Given the description of an element on the screen output the (x, y) to click on. 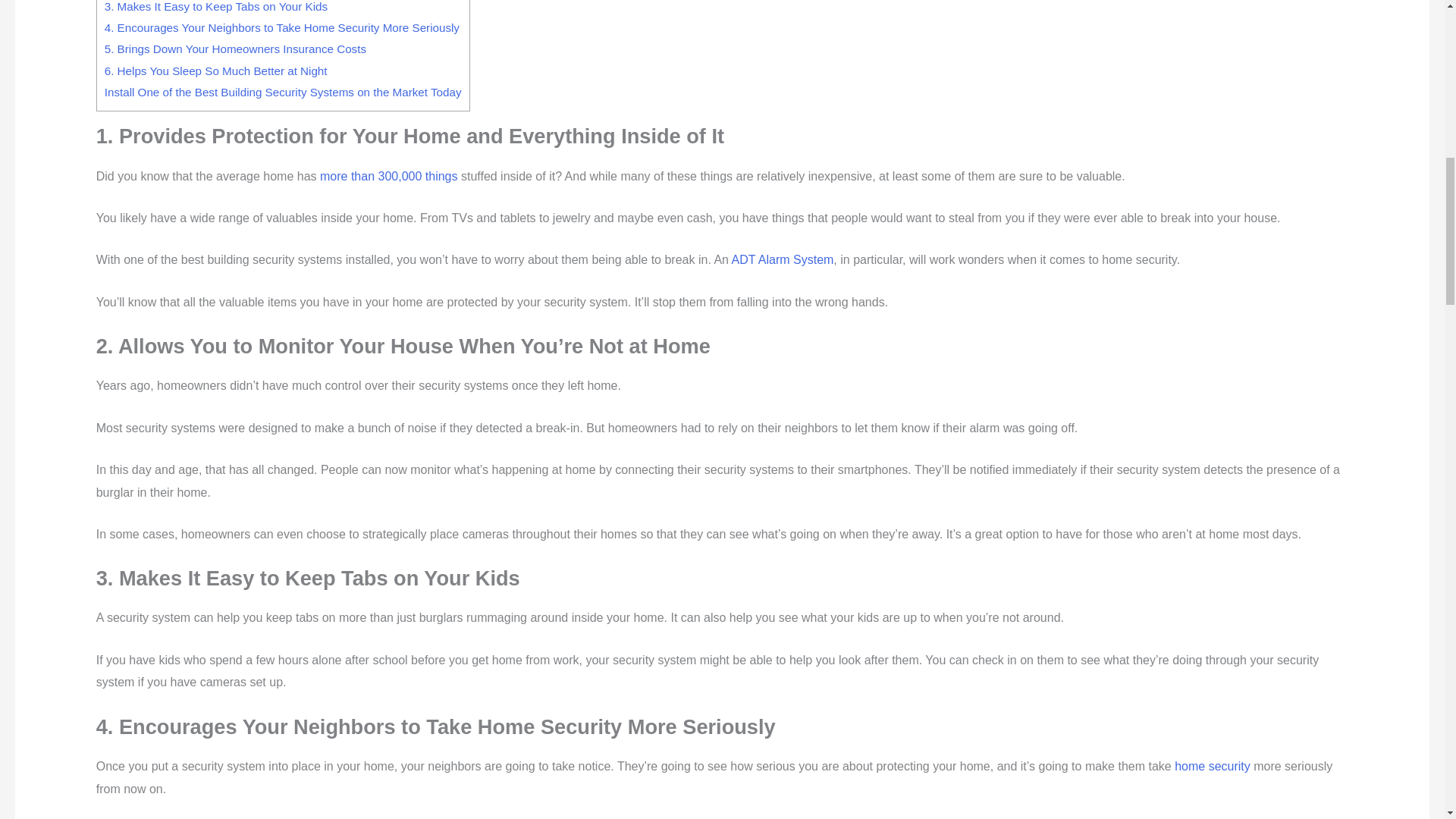
6. Helps You Sleep So Much Better at Night (215, 70)
home security (1212, 766)
ADT Alarm System (783, 259)
more than 300,000 things (388, 175)
5. Brings Down Your Homeowners Insurance Costs (235, 48)
home security (1212, 766)
3. Makes It Easy to Keep Tabs on Your Kids (215, 6)
